Given the description of an element on the screen output the (x, y) to click on. 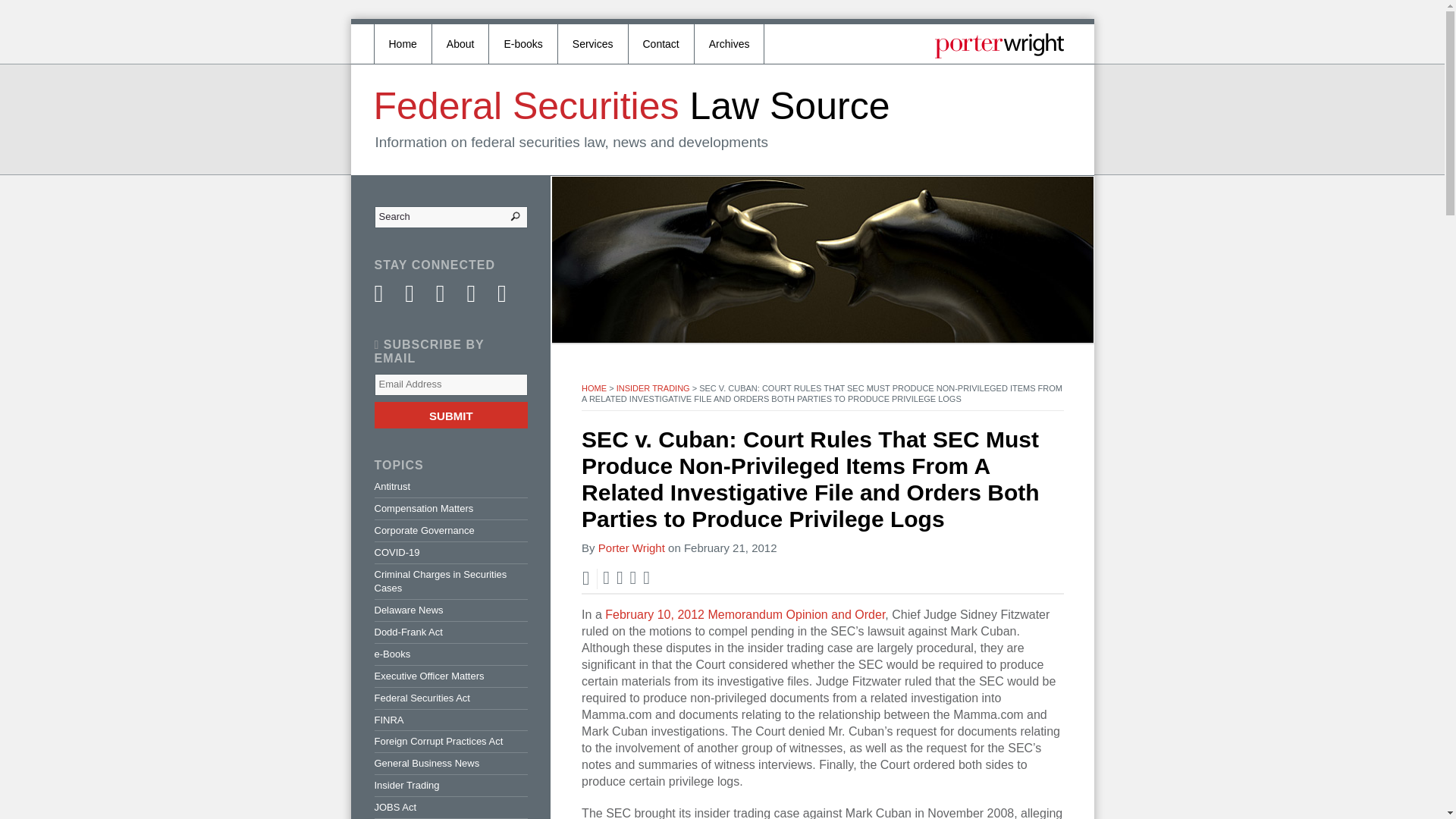
Antitrust (451, 488)
E-books (523, 40)
Home (403, 40)
Archives (729, 40)
Published By Porter Wright (998, 45)
SUBMIT (451, 415)
February 10, 2012 Memorandum Opinion and Order (745, 614)
Compensation Matters (451, 509)
INSIDER TRADING (652, 388)
Go (504, 216)
